Given the description of an element on the screen output the (x, y) to click on. 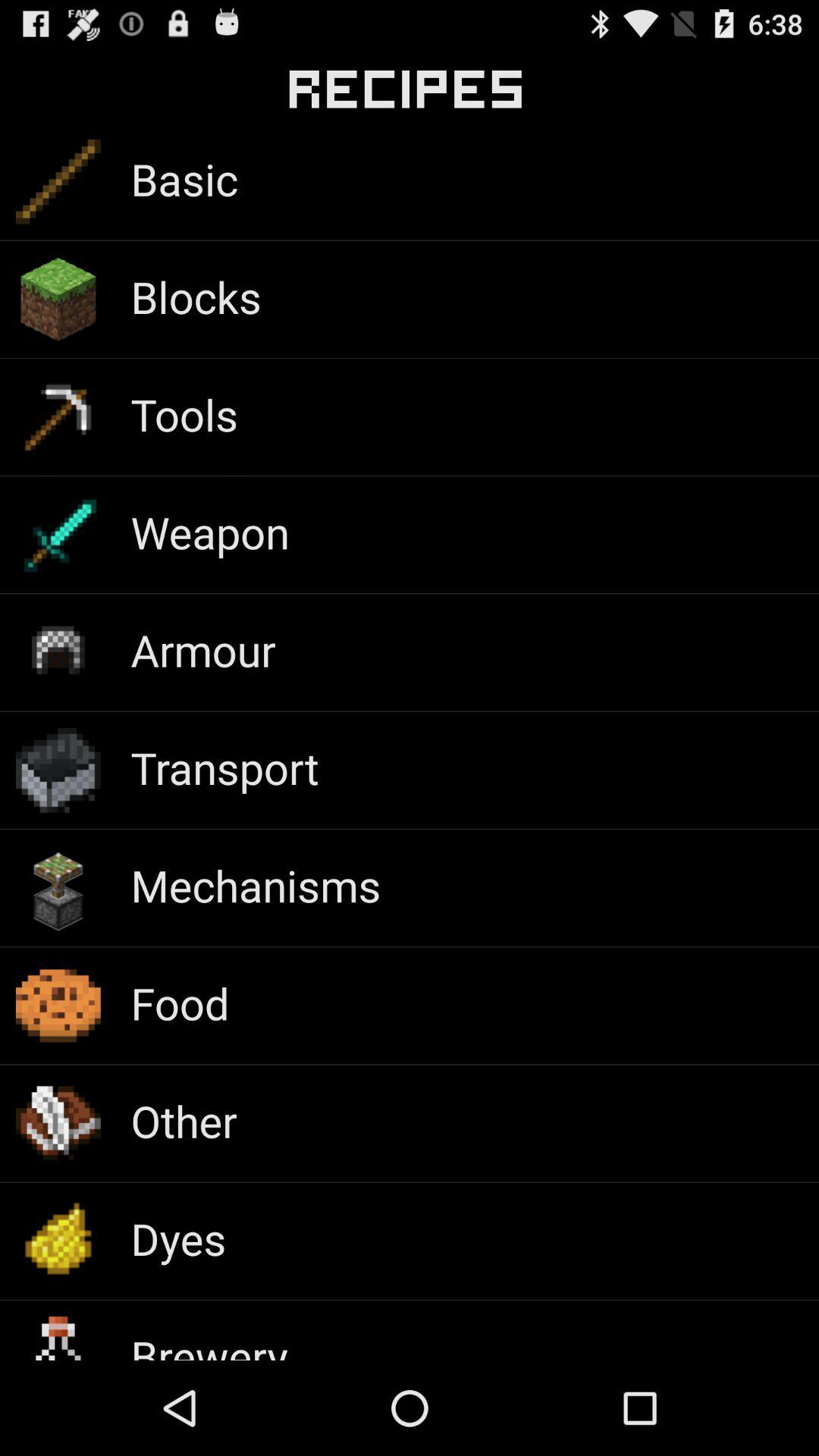
press item above weapon app (184, 414)
